Given the description of an element on the screen output the (x, y) to click on. 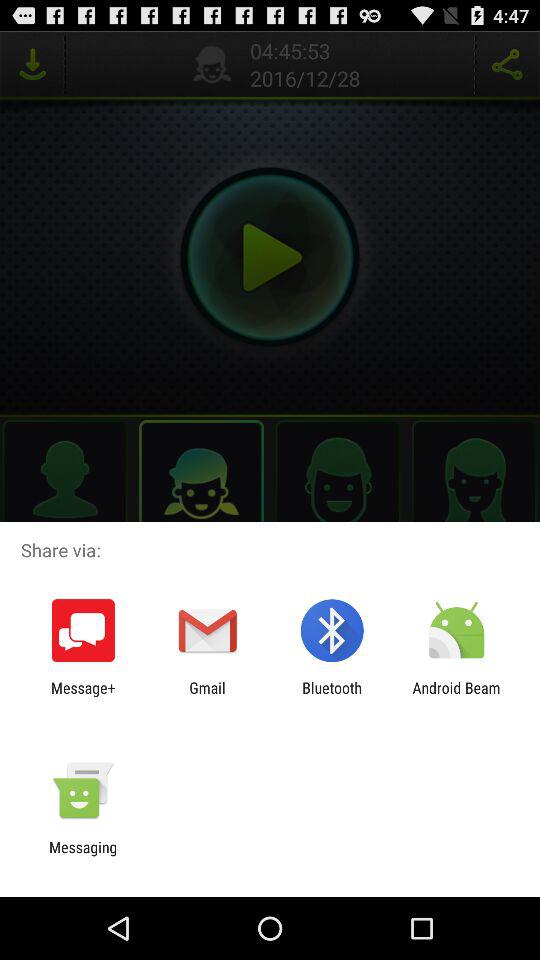
jump to the android beam icon (456, 696)
